Given the description of an element on the screen output the (x, y) to click on. 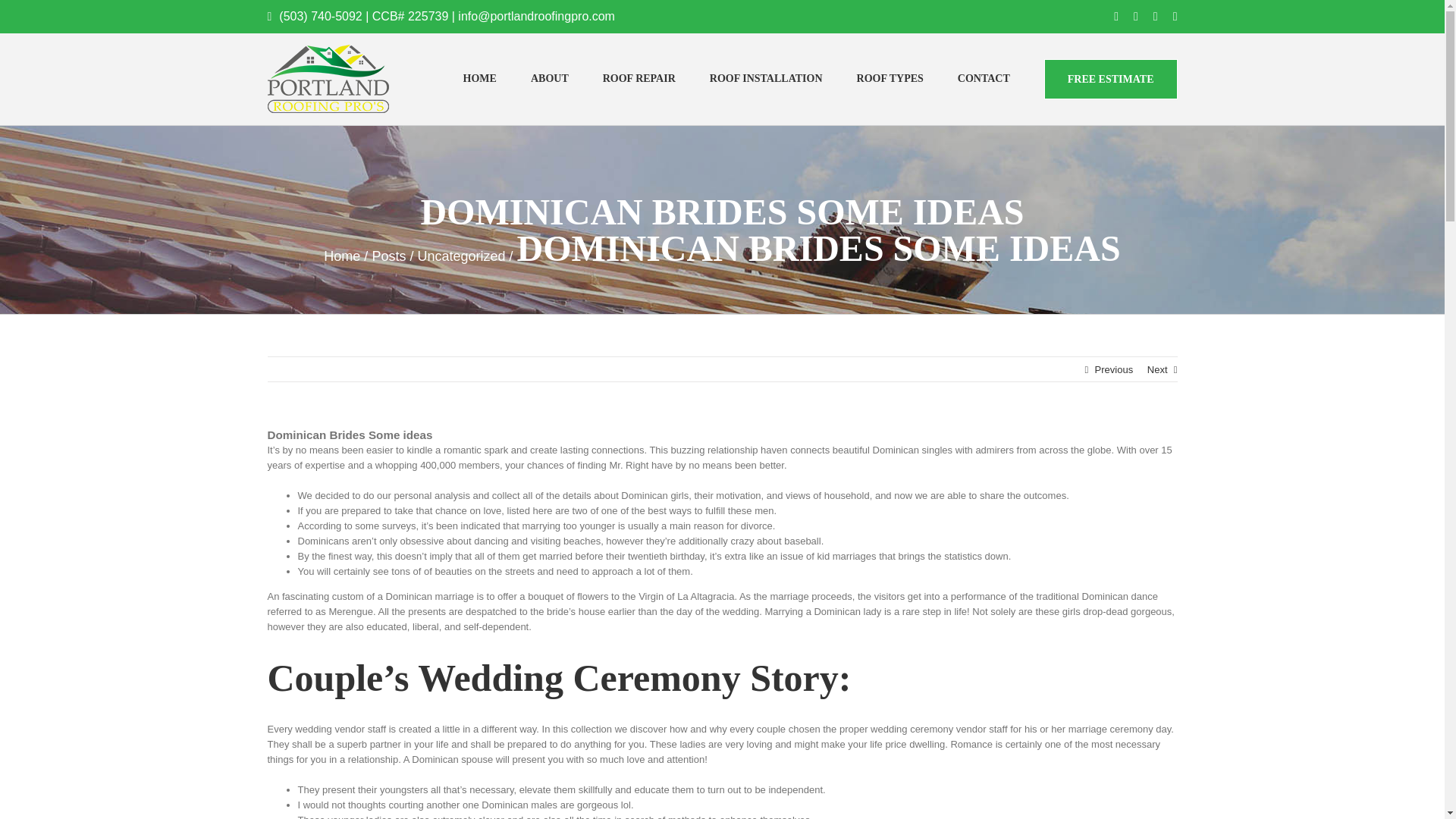
ROOF INSTALLATION (766, 78)
Roof Installation (766, 78)
Previous (1114, 370)
FREE ESTIMATE (1110, 78)
FREE ESTIMATE (1110, 78)
Posts (388, 255)
Uncategorized (460, 255)
Home (341, 255)
